Given the description of an element on the screen output the (x, y) to click on. 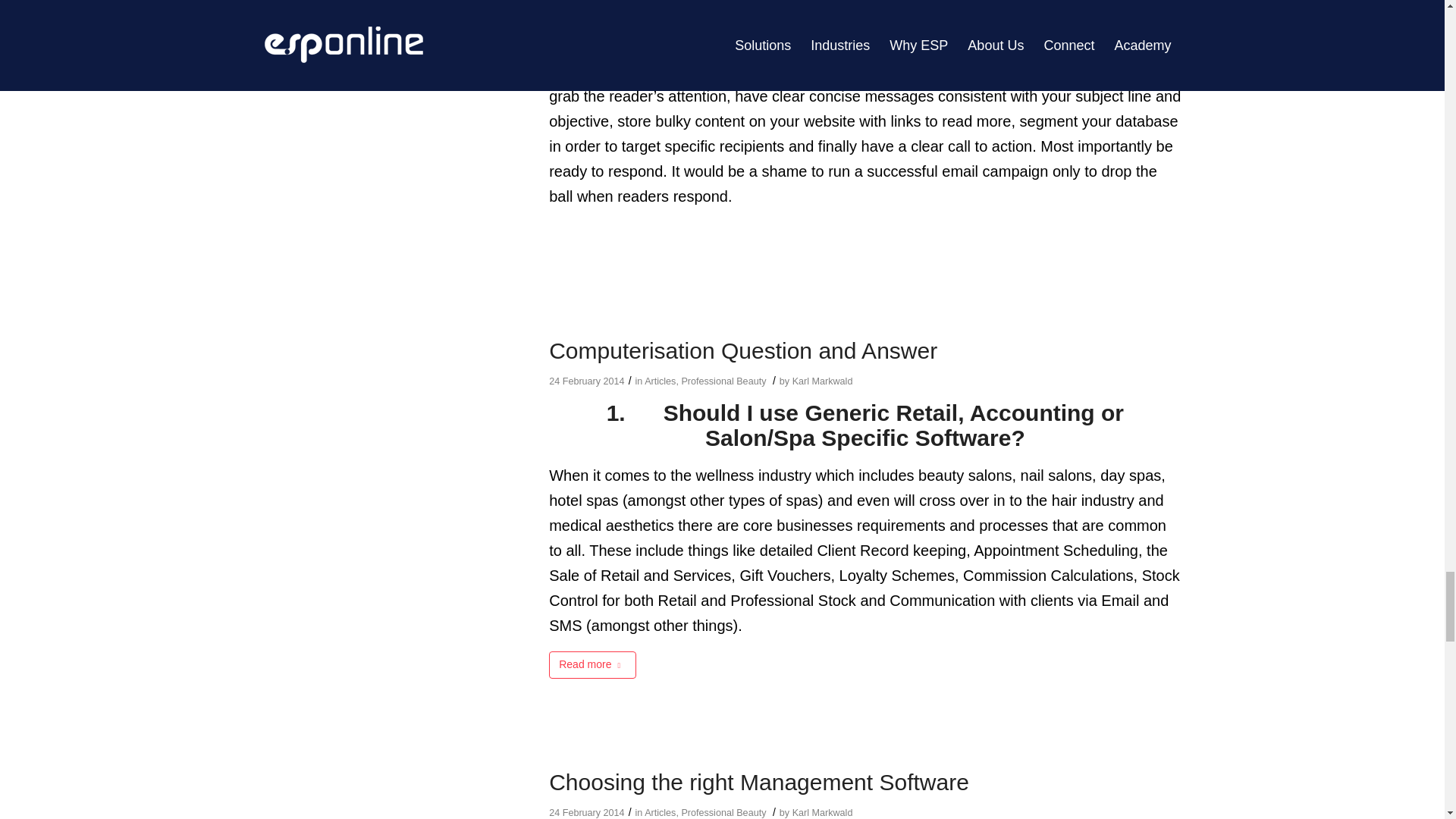
Posts by Karl Markwald (822, 380)
Permanent Link: Computerisation Question and Answer (742, 350)
Karl Markwald (822, 380)
Posts by Karl Markwald (822, 812)
Computerisation Question and Answer (742, 350)
Permanent Link: Choosing the right Management Software (758, 781)
Professional Beauty (723, 380)
Articles (660, 380)
